Given the description of an element on the screen output the (x, y) to click on. 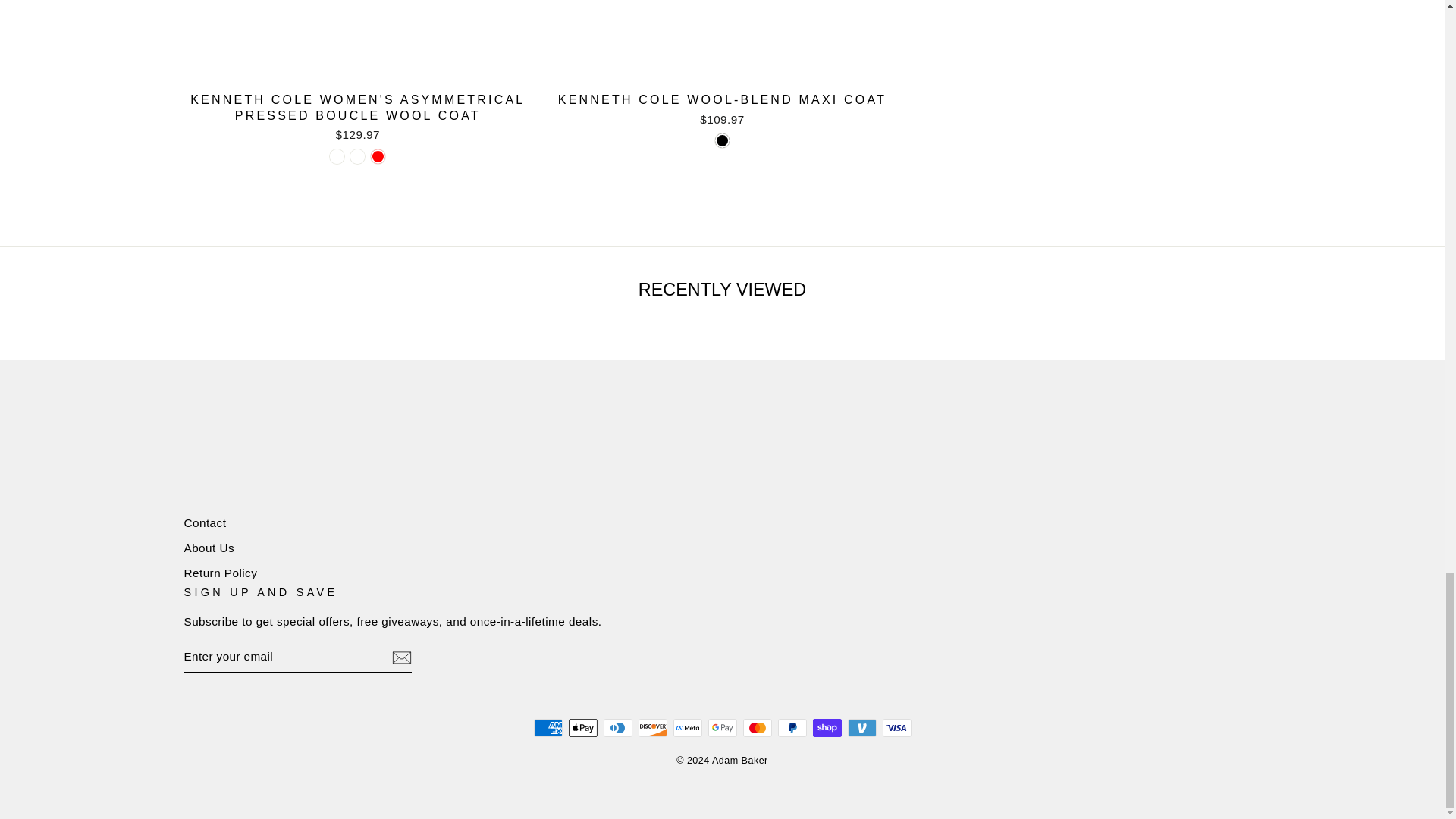
Apple Pay (582, 728)
Discover (652, 728)
Google Pay (721, 728)
icon-email (400, 657)
PayPal (791, 728)
Diners Club (617, 728)
Meta Pay (686, 728)
American Express (548, 728)
Mastercard (756, 728)
